Given the description of an element on the screen output the (x, y) to click on. 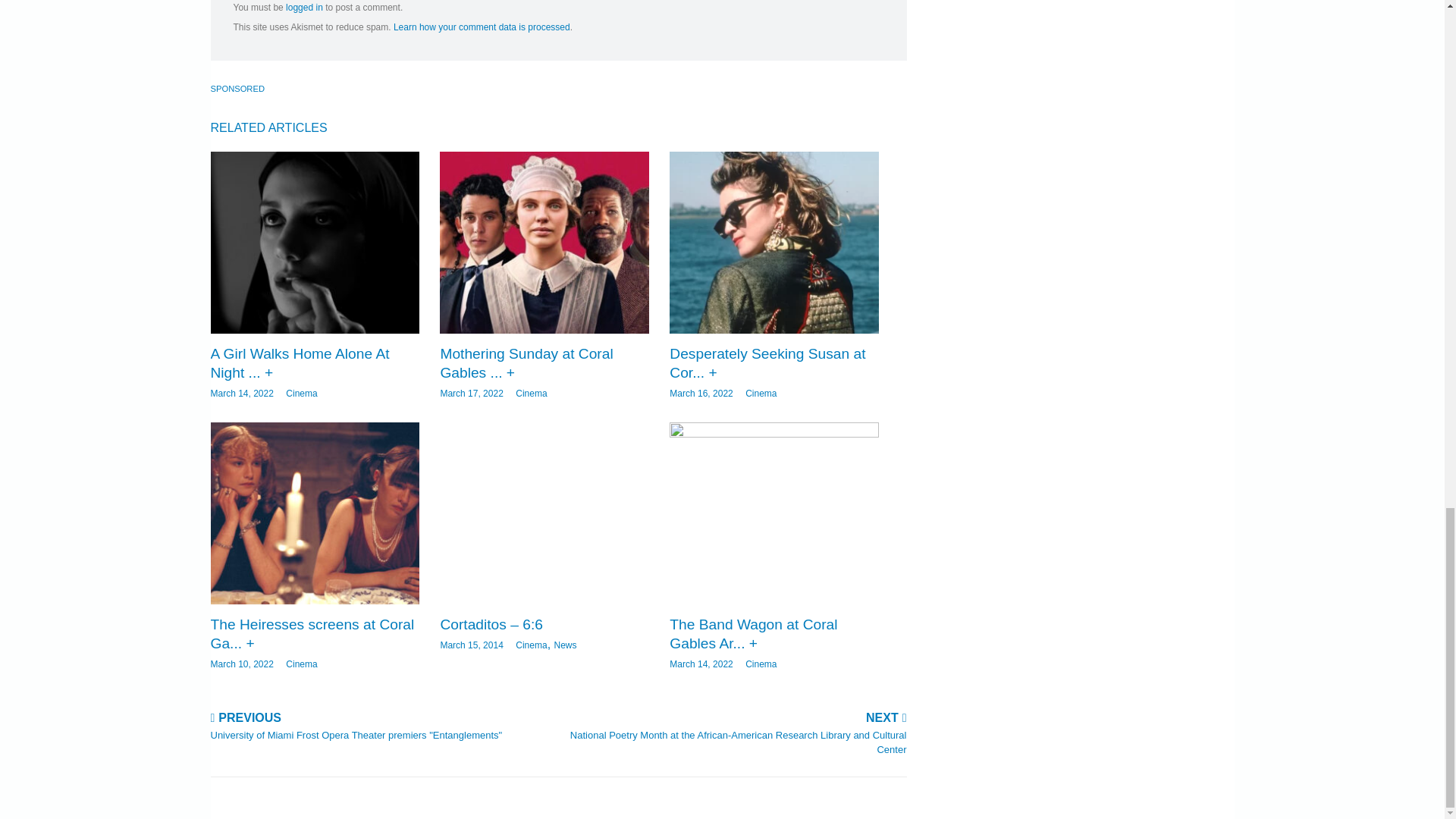
Mothering Sunday at Coral Gables Art Cinema (543, 242)
Mothering Sunday at Coral Gables Art Cinema (525, 362)
A Girl Walks Home Alone At Night at Coral Gables Art Cinema (300, 362)
A Girl Walks Home Alone At Night at Coral Gables Art Cinema (315, 242)
